Given the description of an element on the screen output the (x, y) to click on. 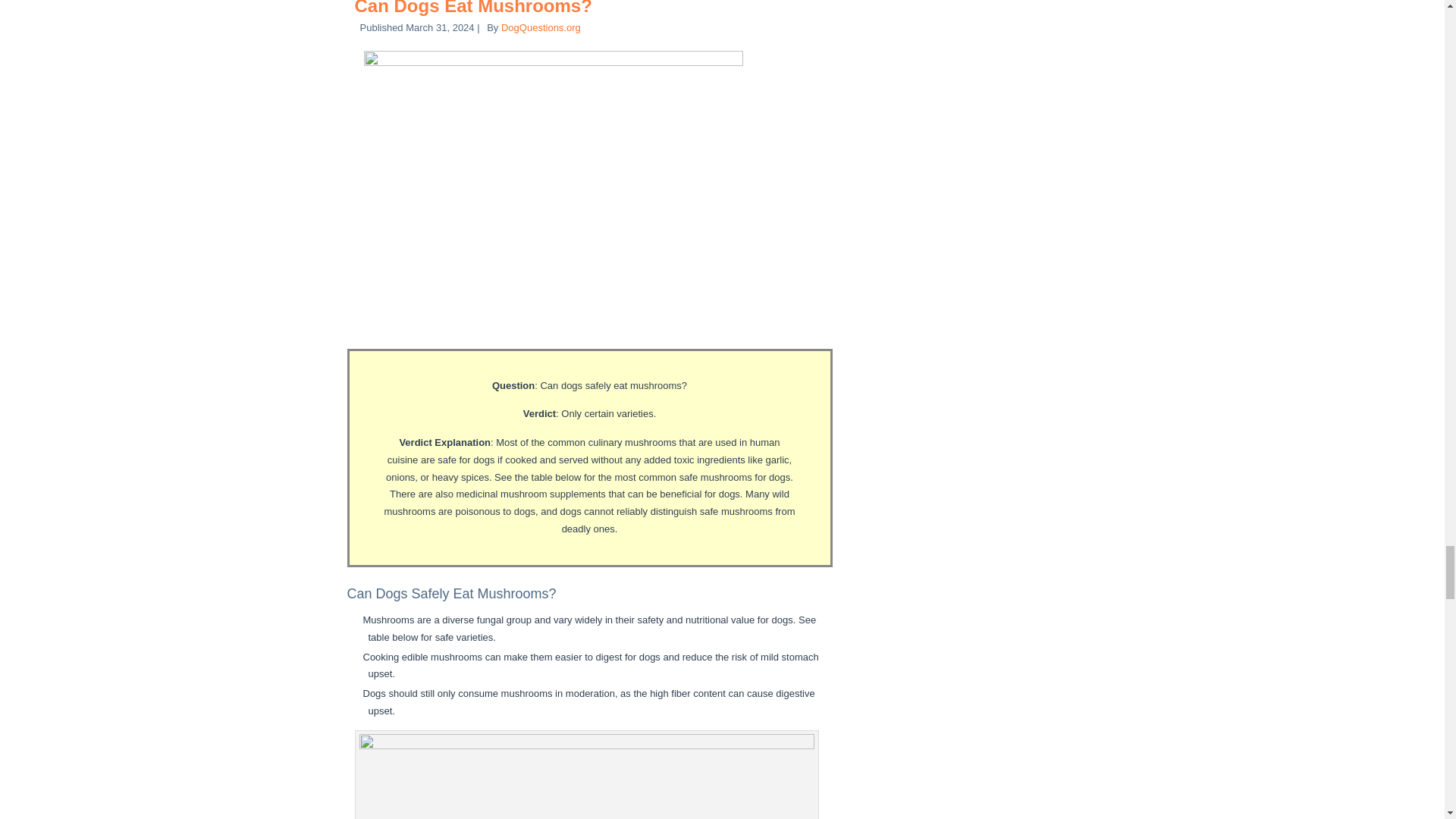
Can Dogs Eat Mushrooms? (473, 7)
DogQuestions.org (540, 27)
